Given the description of an element on the screen output the (x, y) to click on. 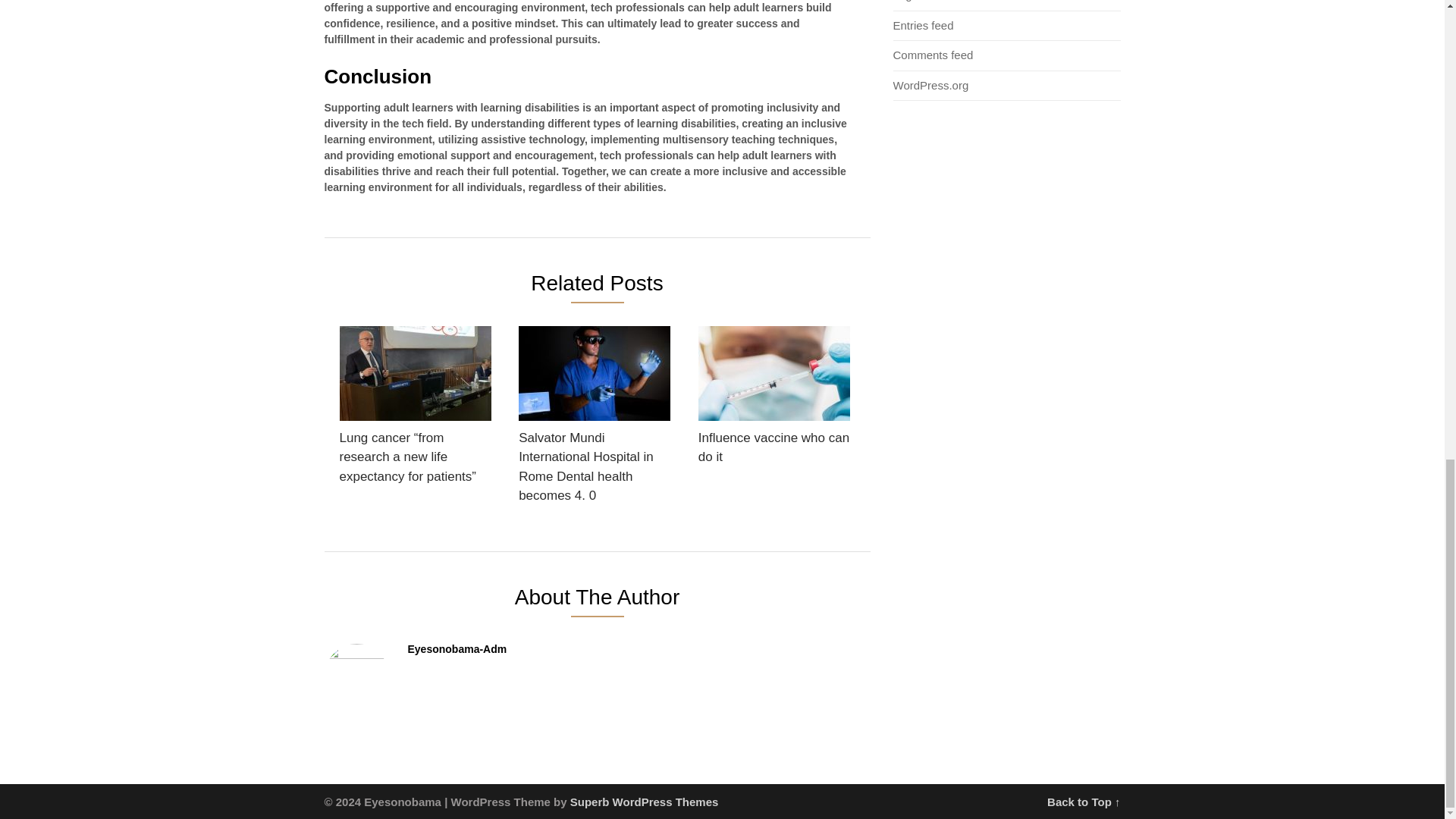
Influence vaccine who can do it (774, 400)
WordPress.org (931, 84)
Influence vaccine who can do it (774, 400)
Entries feed (923, 24)
Log in (908, 0)
Comments feed (933, 54)
Superb WordPress Themes (644, 801)
